Given the description of an element on the screen output the (x, y) to click on. 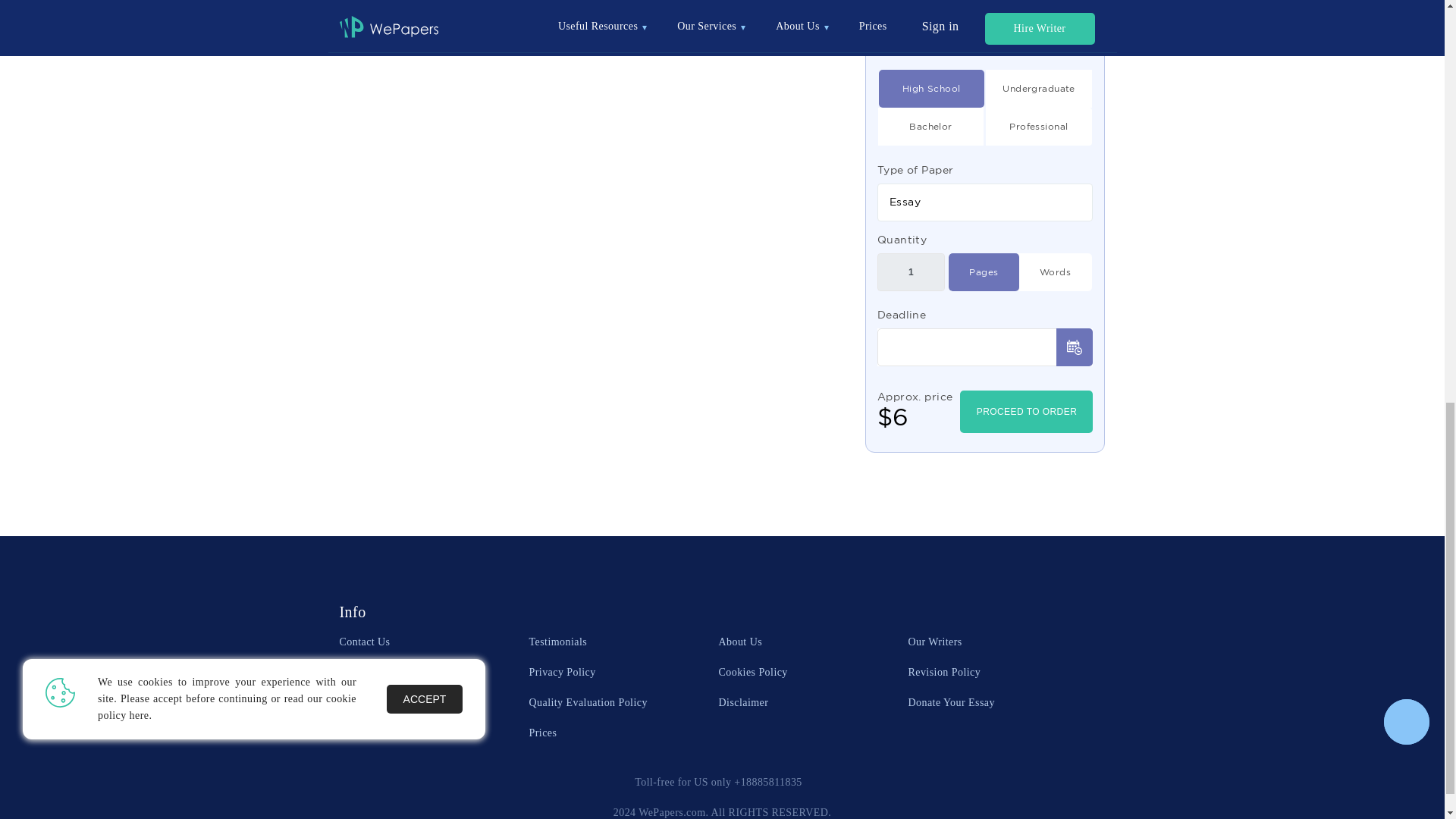
1 (910, 272)
Essay (985, 201)
on (1054, 271)
on (983, 271)
1 (1038, 88)
3 (931, 126)
6 (931, 88)
4 (1038, 126)
